Given the description of an element on the screen output the (x, y) to click on. 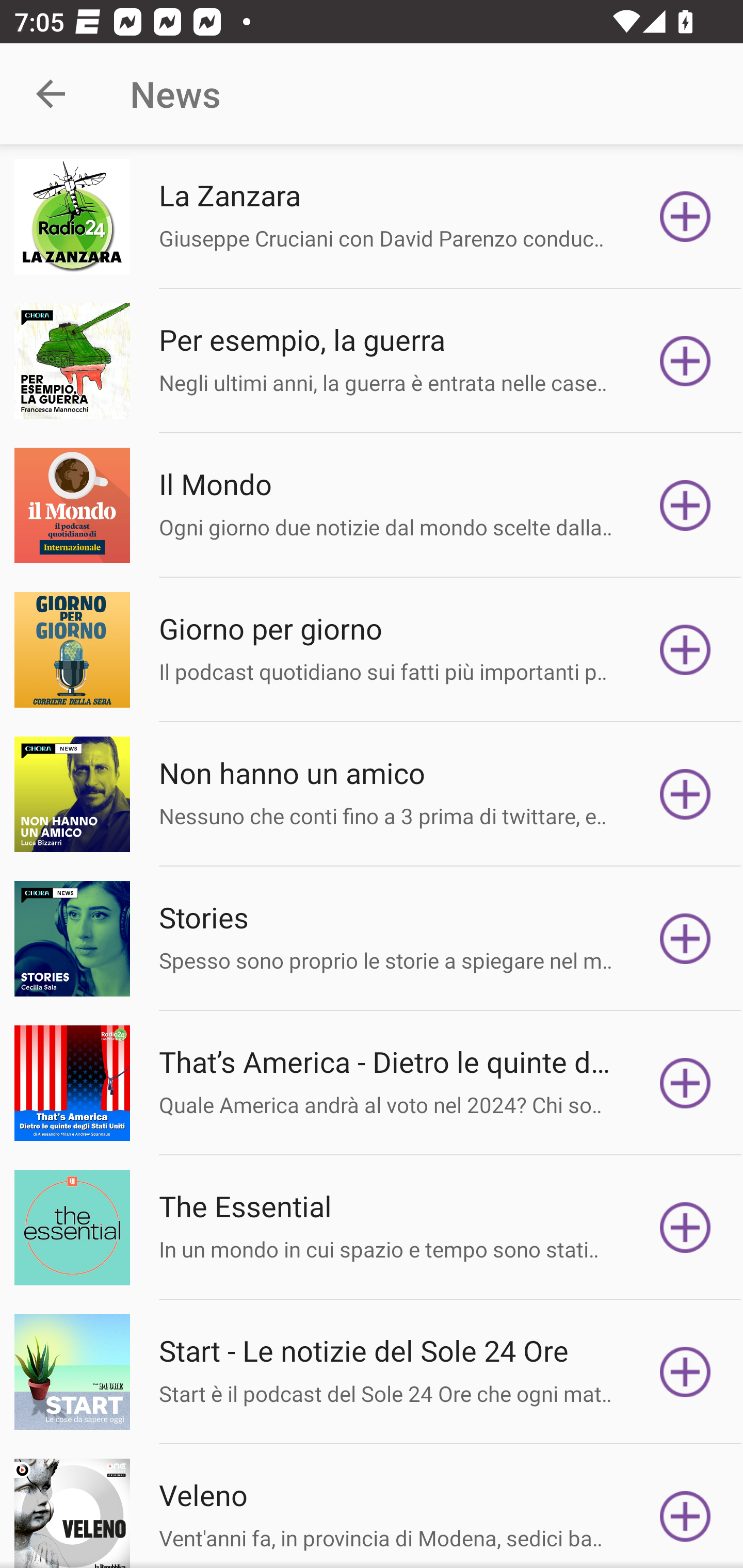
Navigate up (50, 93)
Subscribe (685, 216)
Subscribe (685, 360)
Subscribe (685, 505)
Subscribe (685, 649)
Subscribe (685, 793)
Subscribe (685, 939)
Subscribe (685, 1083)
Subscribe (685, 1227)
Subscribe (685, 1371)
Subscribe (685, 1513)
